Given the description of an element on the screen output the (x, y) to click on. 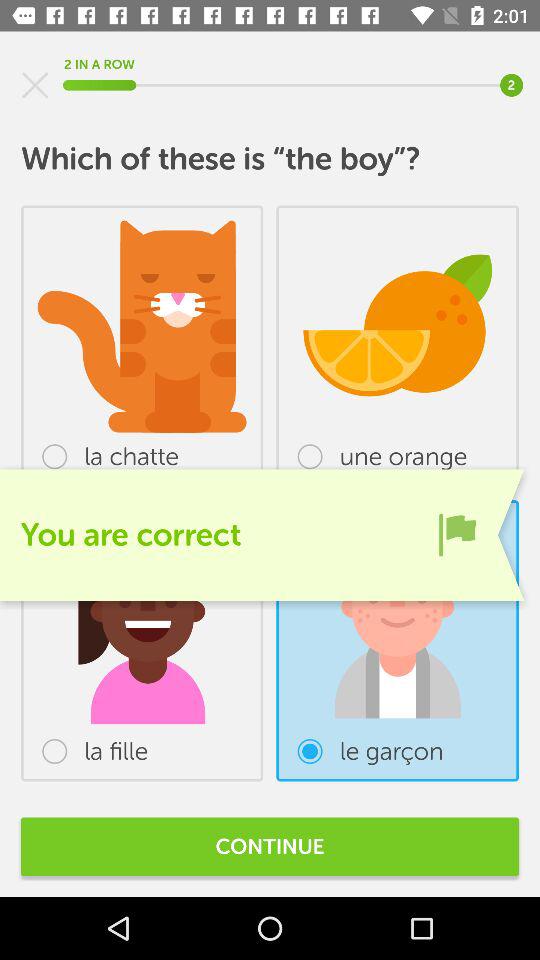
terminate (35, 85)
